Given the description of an element on the screen output the (x, y) to click on. 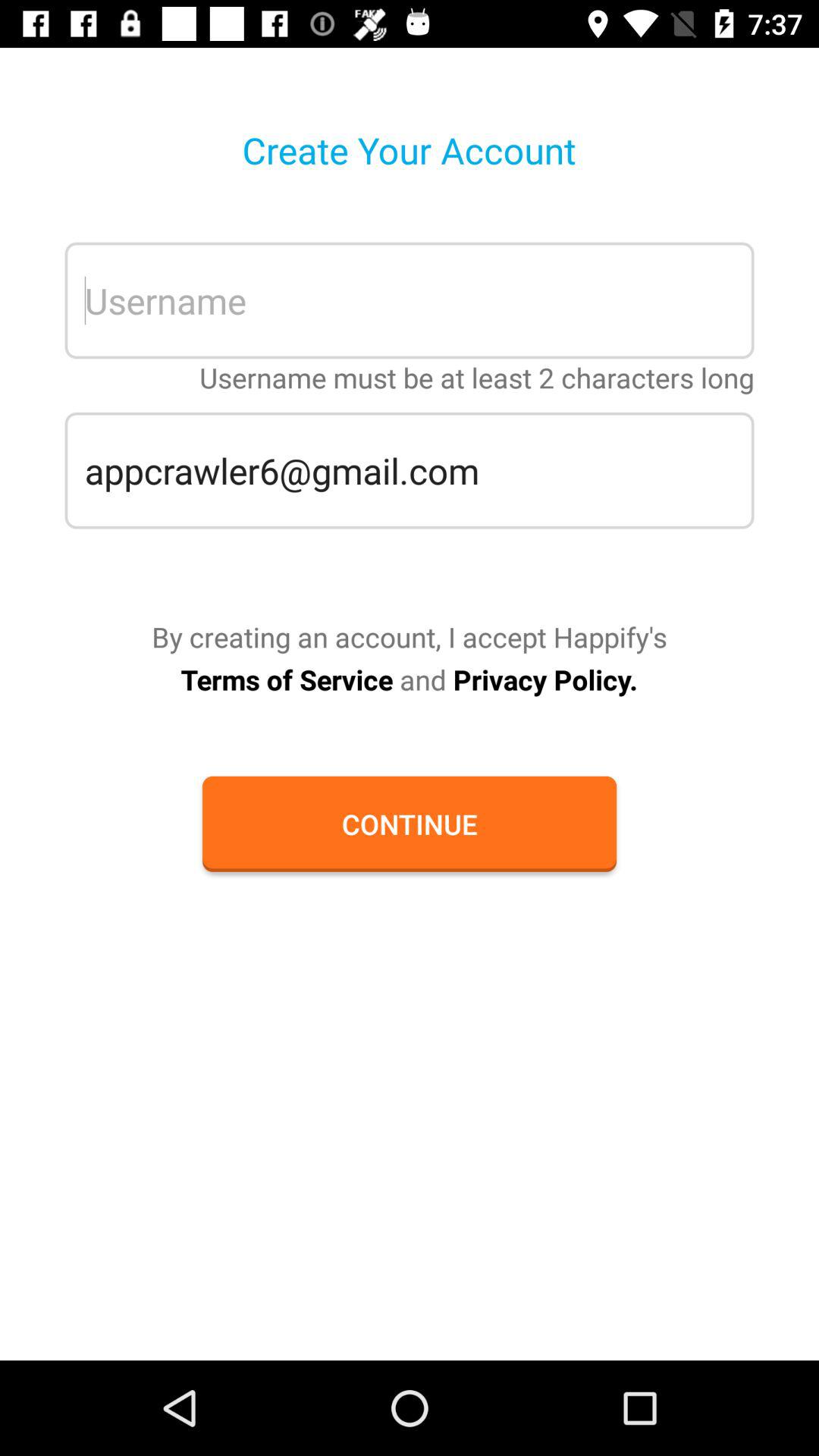
username (409, 300)
